Given the description of an element on the screen output the (x, y) to click on. 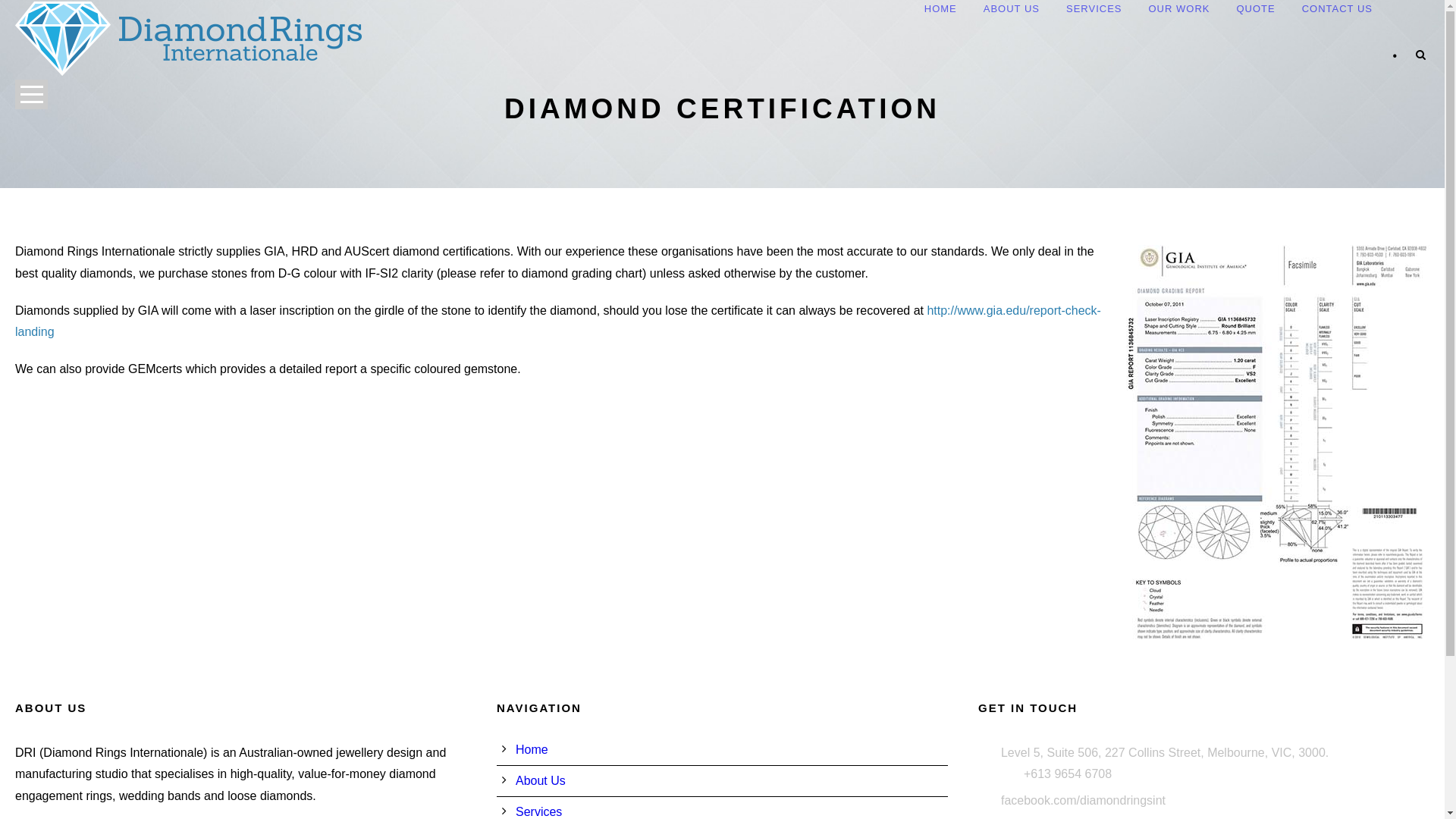
+613 9654 6708 Element type: text (1067, 773)
Open Menu Element type: text (31, 94)
Home Element type: text (531, 749)
OUR WORK Element type: text (1178, 10)
facebook.com/diamondringsint Element type: text (1083, 799)
ABOUT US Element type: text (1011, 10)
About Us Element type: text (540, 780)
SERVICES Element type: text (1094, 10)
CONTACT US Element type: text (1337, 10)
Services Element type: text (538, 811)
HOME Element type: text (940, 10)
http://www.gia.edu/report-check-landing Element type: text (558, 321)
QUOTE Element type: text (1255, 10)
